Given the description of an element on the screen output the (x, y) to click on. 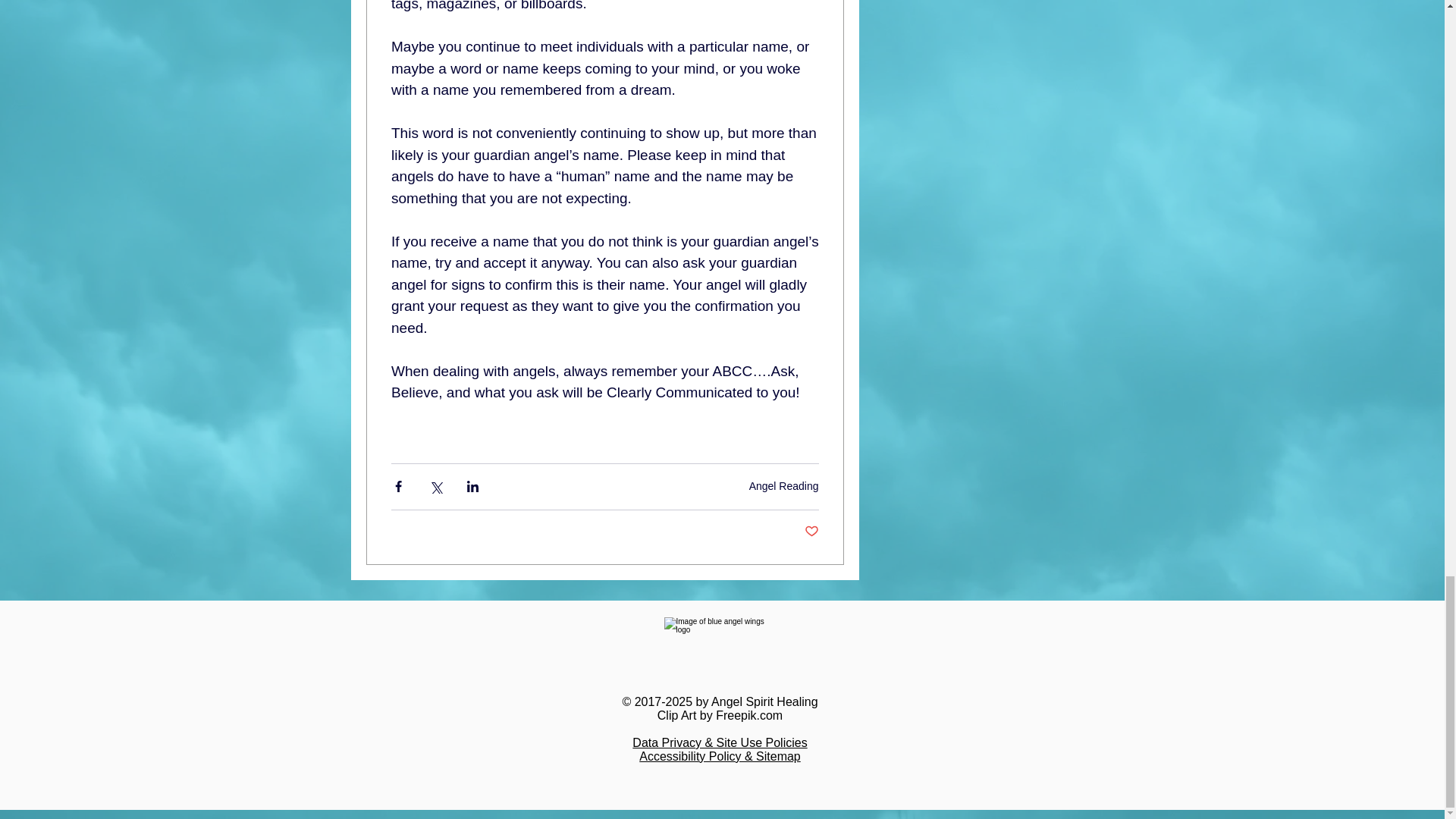
Angel Reading (783, 485)
Post not marked as liked (810, 531)
